Given the description of an element on the screen output the (x, y) to click on. 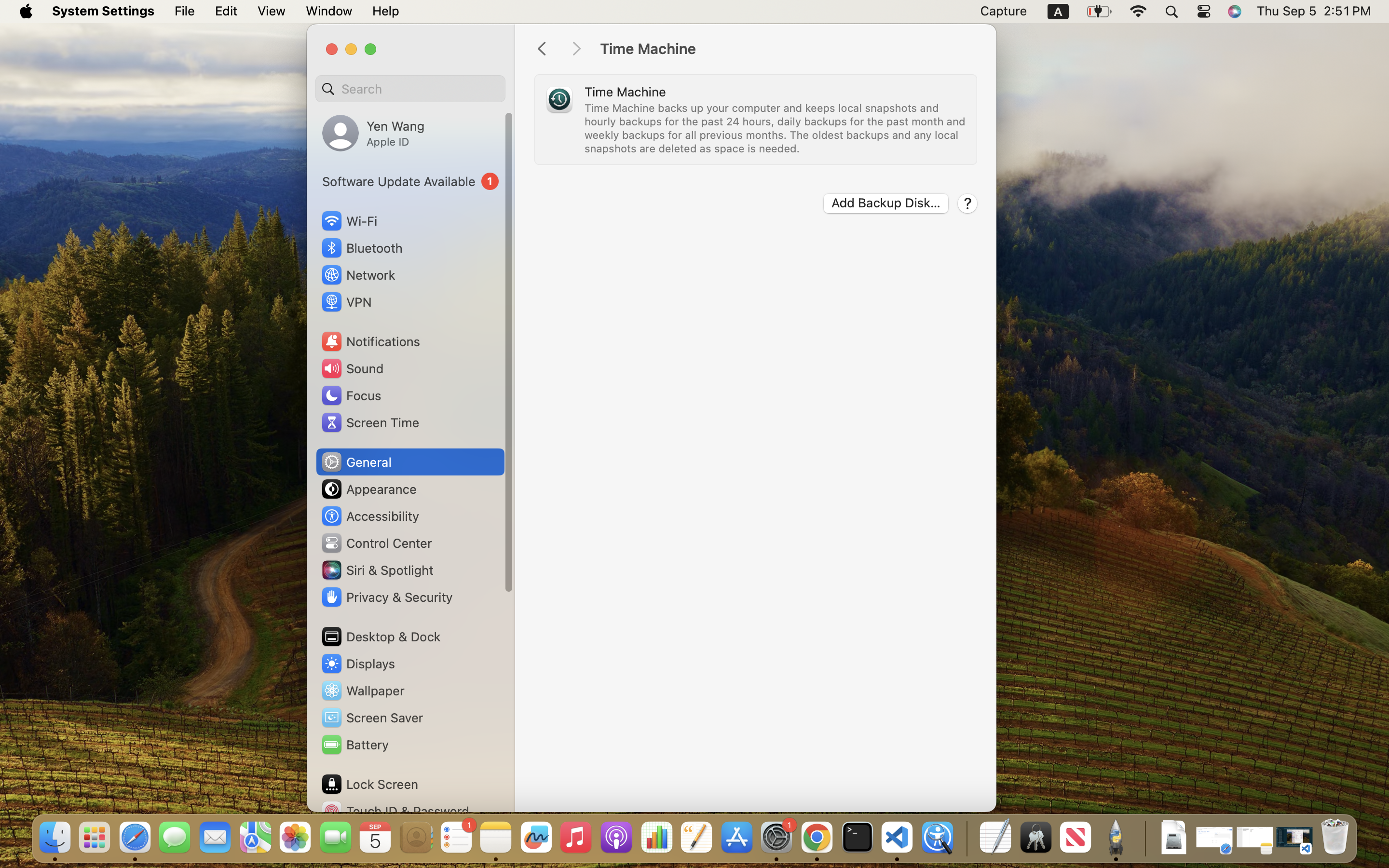
Desktop & Dock Element type: AXStaticText (380, 636)
Touch ID & Password Element type: AXStaticText (394, 810)
0.4285714328289032 Element type: AXDockItem (965, 837)
Network Element type: AXStaticText (357, 274)
Notifications Element type: AXStaticText (370, 340)
